Given the description of an element on the screen output the (x, y) to click on. 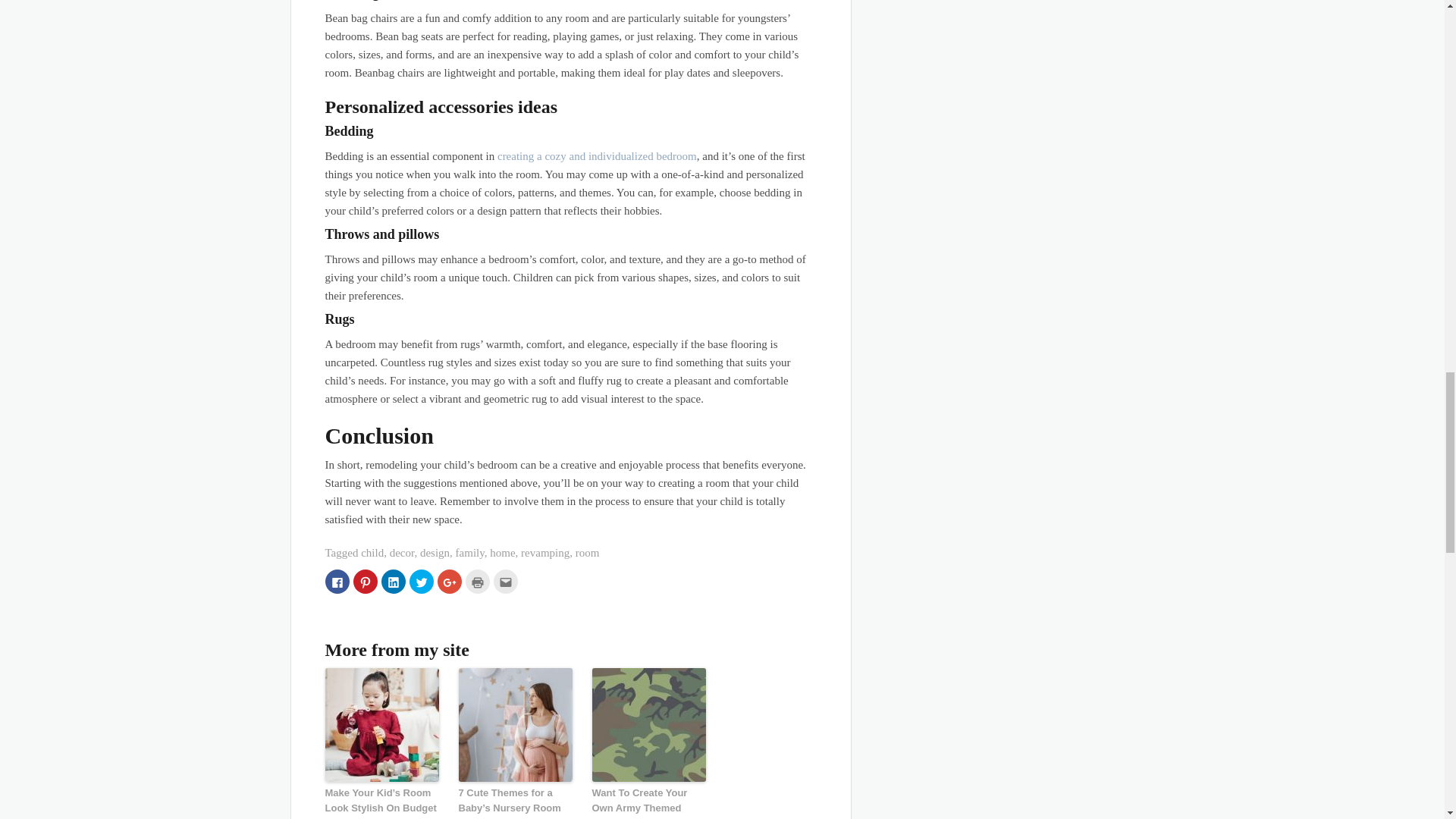
Click to share on LinkedIn (392, 581)
revamping (545, 552)
Click to share on Pinterest (365, 581)
Click to email this to a friend (504, 581)
room (587, 552)
Click to share on Facebook (336, 581)
Click to share on Twitter (421, 581)
design (434, 552)
family (469, 552)
home (502, 552)
